Given the description of an element on the screen output the (x, y) to click on. 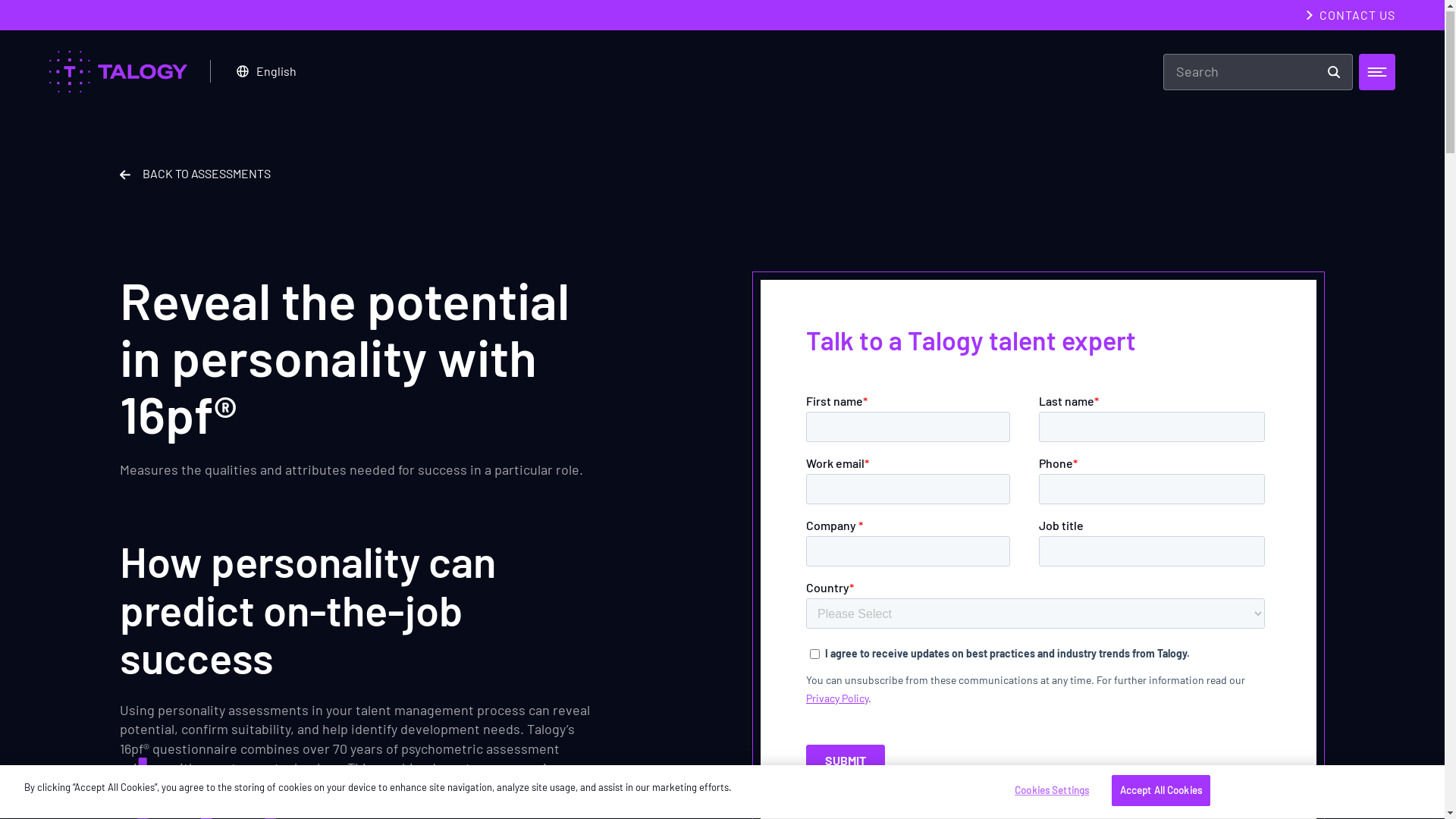
Accept All Cookies Element type: text (1160, 791)
Form 0 Element type: hover (1038, 592)
BACK TO ASSESSMENTS Element type: text (194, 173)
CONTACT US Element type: text (1357, 15)
English Element type: text (266, 71)
Cookies Settings Element type: text (1051, 791)
